Given the description of an element on the screen output the (x, y) to click on. 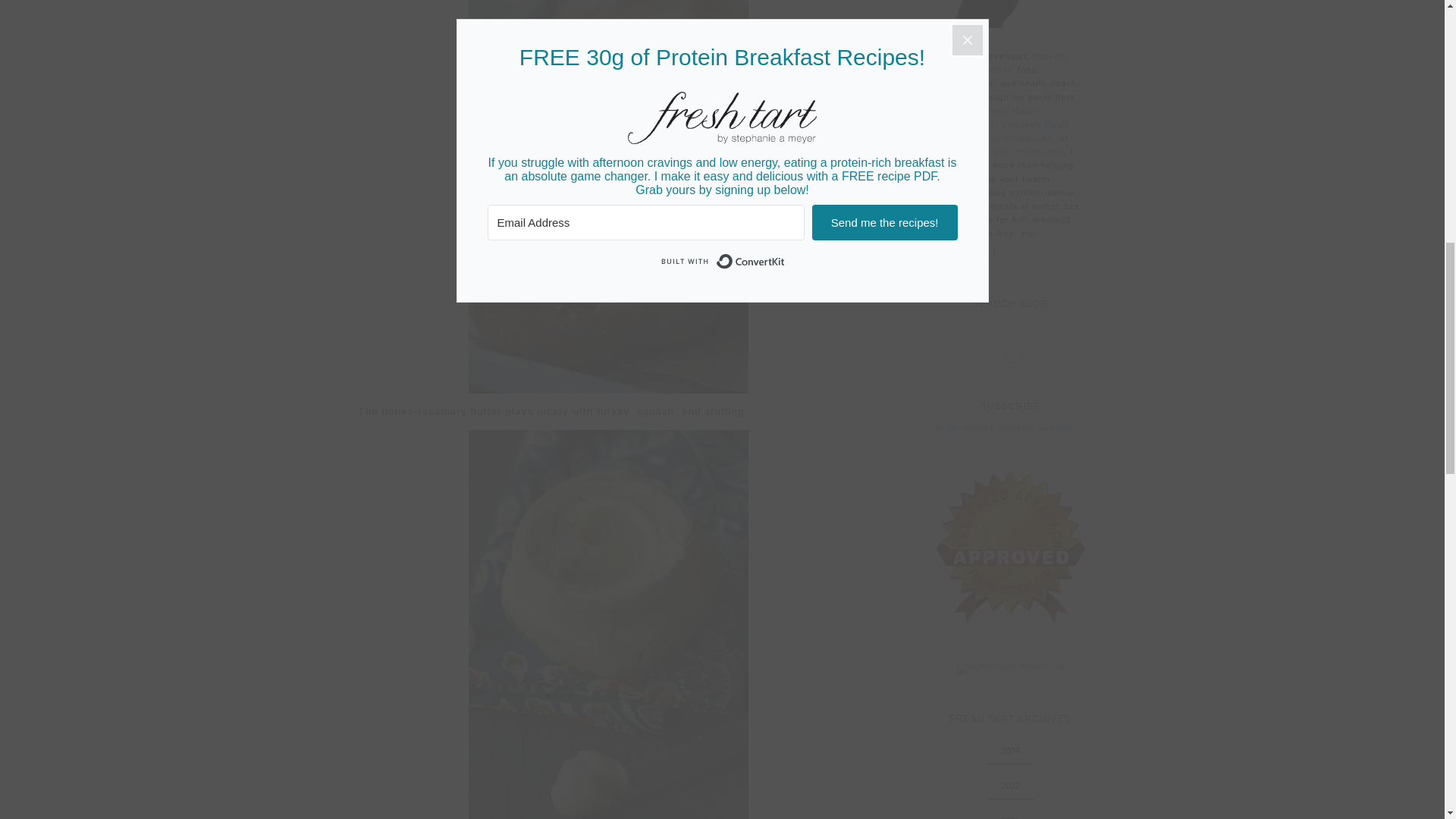
Go (1010, 355)
challah (608, 196)
2024 (1010, 750)
Project Vibrancy Macro Reset (986, 117)
cooking instructor (1001, 62)
my cookbooks (1021, 137)
Go (1010, 355)
working with you one-on-one (999, 151)
author (996, 69)
honey-rosemary butter (608, 624)
Project Vibrancy Meals meal plans (1002, 130)
